Given the description of an element on the screen output the (x, y) to click on. 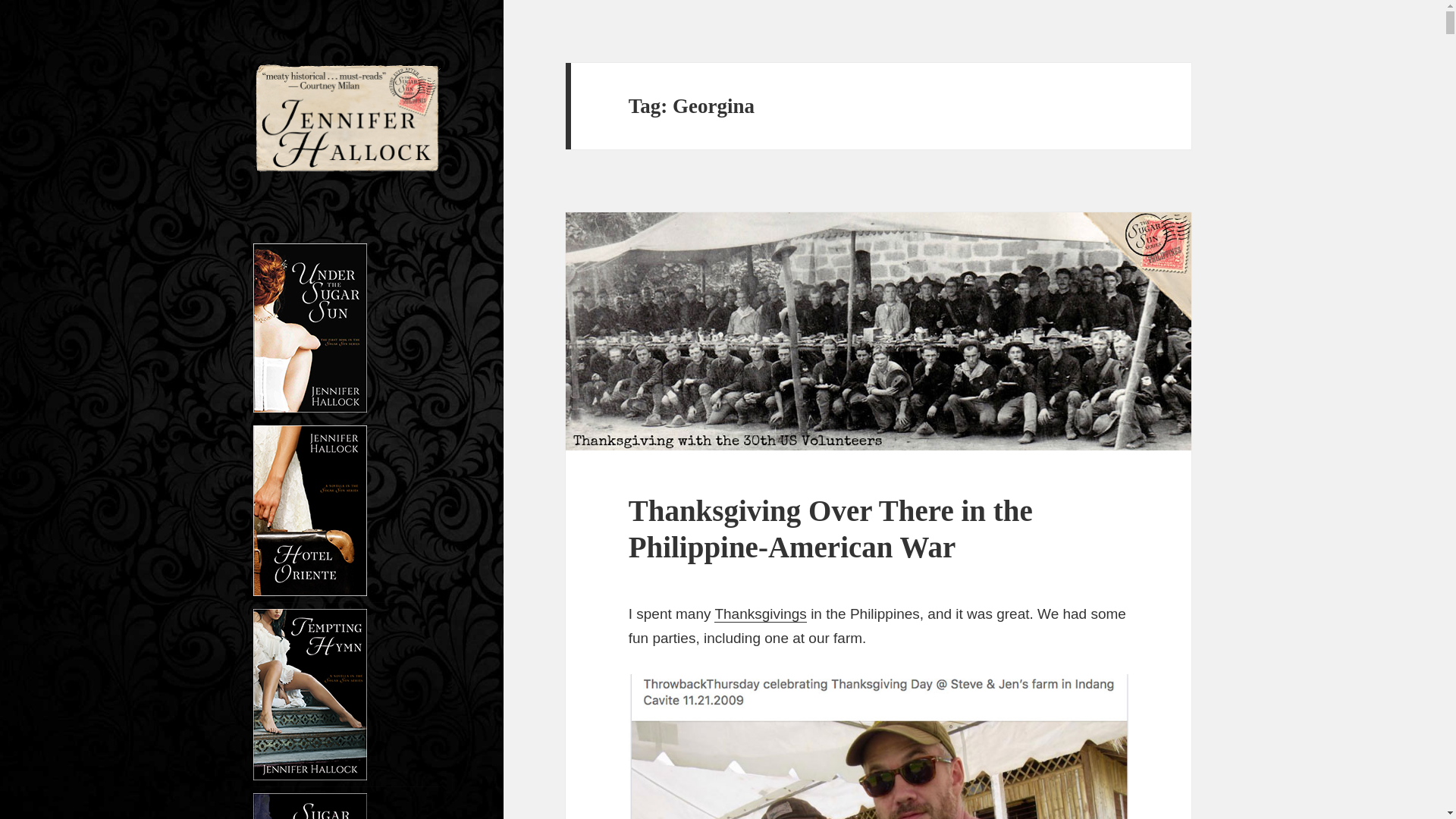
Thanksgiving Over There in the Philippine-American War (830, 528)
Jennifer Hallock (342, 203)
Thanksgivings (760, 614)
